Given the description of an element on the screen output the (x, y) to click on. 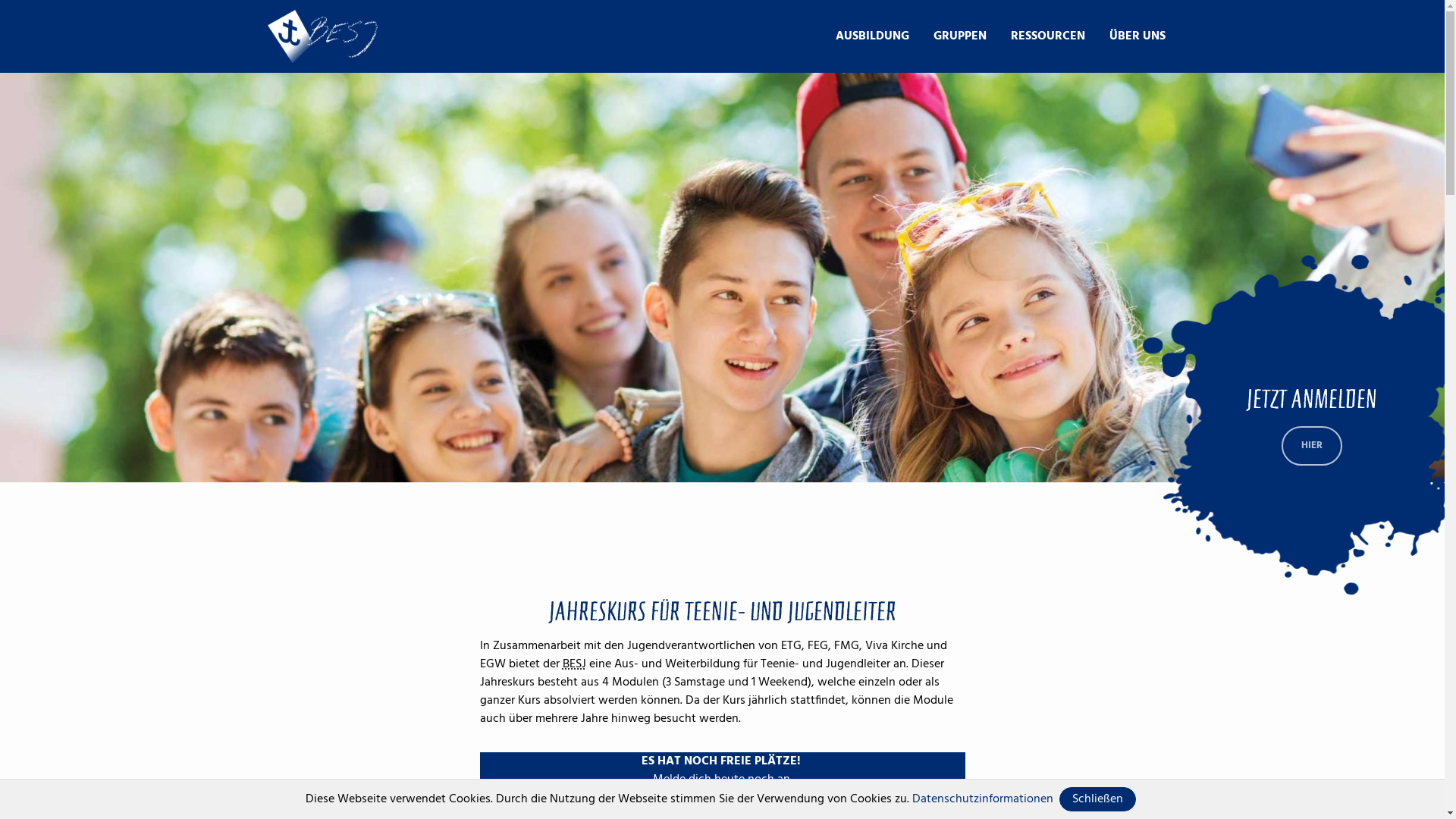
Zur Startseite Element type: hover (321, 35)
HIER Element type: text (1311, 445)
AUSBILDUNG Element type: text (872, 36)
RESSOURCEN Element type: text (1046, 36)
GRUPPEN Element type: text (958, 36)
Datenschutzinformationen Element type: text (982, 799)
